Given the description of an element on the screen output the (x, y) to click on. 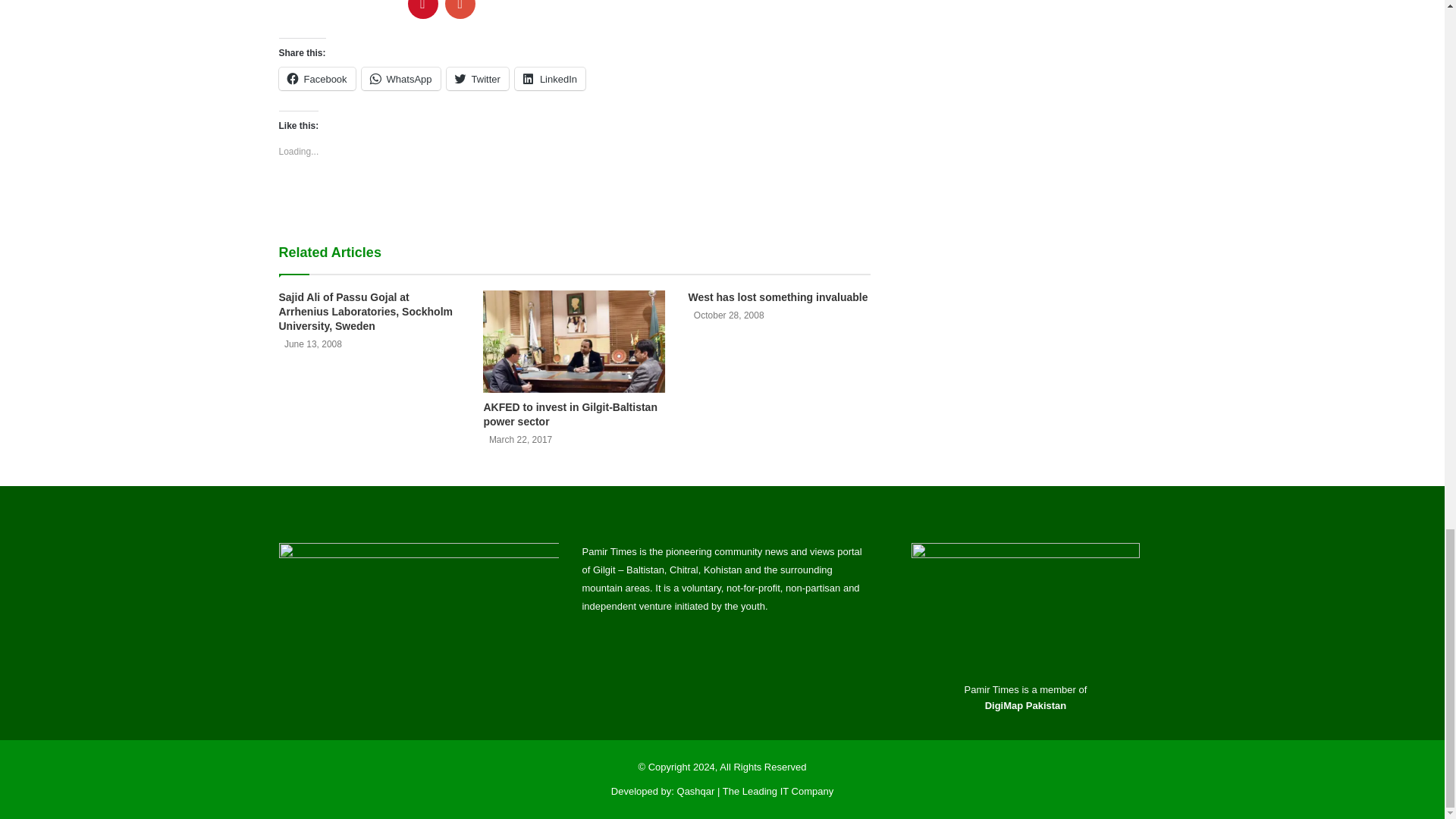
LinkedIn (550, 78)
Twitter (477, 78)
Click to share on Twitter (477, 78)
WhatsApp (401, 78)
Click to share on WhatsApp (401, 78)
Click to share on Facebook (317, 78)
Click to share on LinkedIn (550, 78)
Facebook (317, 78)
